Given the description of an element on the screen output the (x, y) to click on. 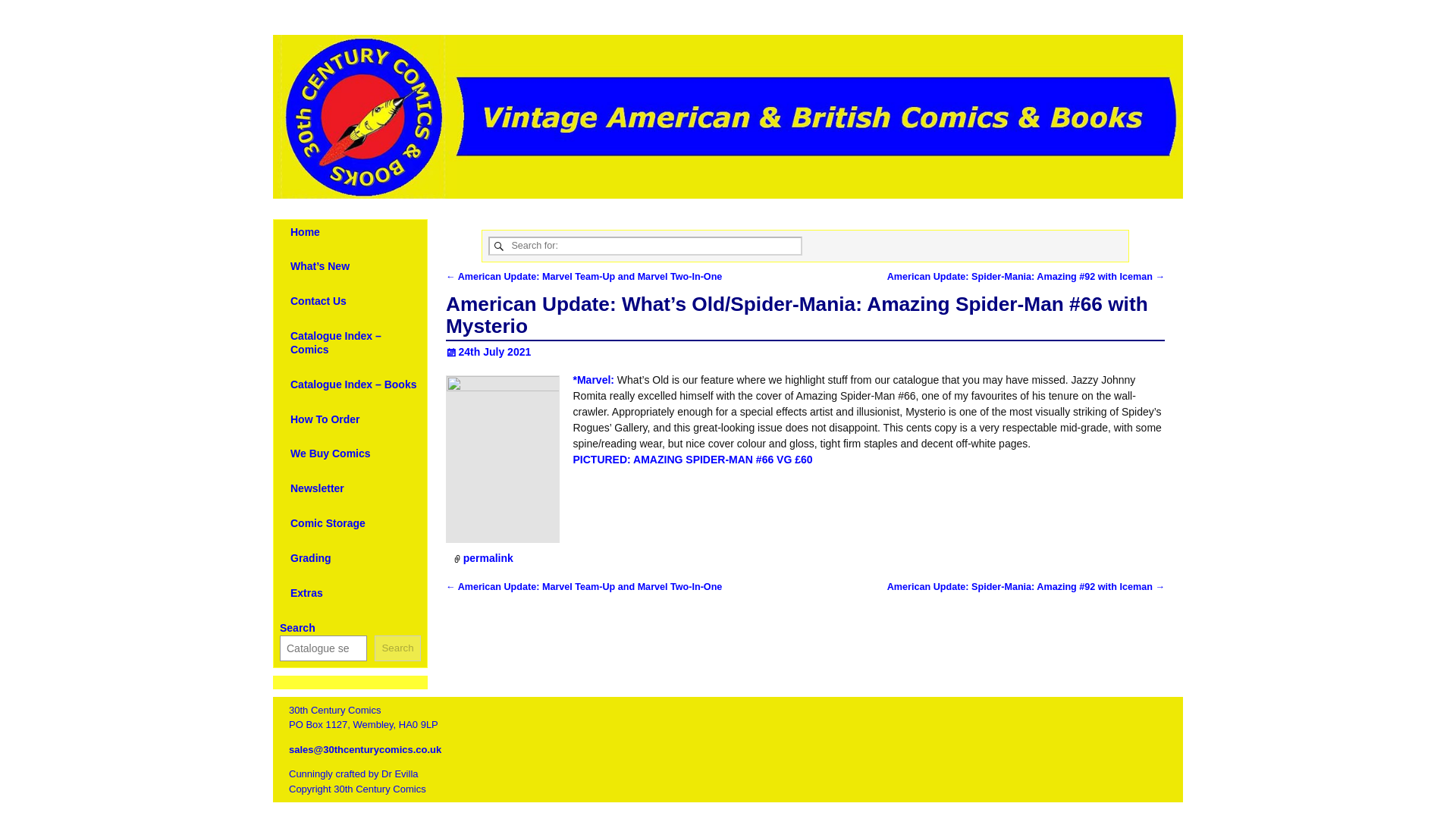
Search (397, 647)
We Buy Comics (330, 453)
Grading (310, 558)
What's New (348, 208)
Home (301, 208)
Home (304, 232)
Newsletter (316, 488)
How To Order (324, 419)
24th July 2021 (488, 351)
Comic Storage (327, 522)
